Given the description of an element on the screen output the (x, y) to click on. 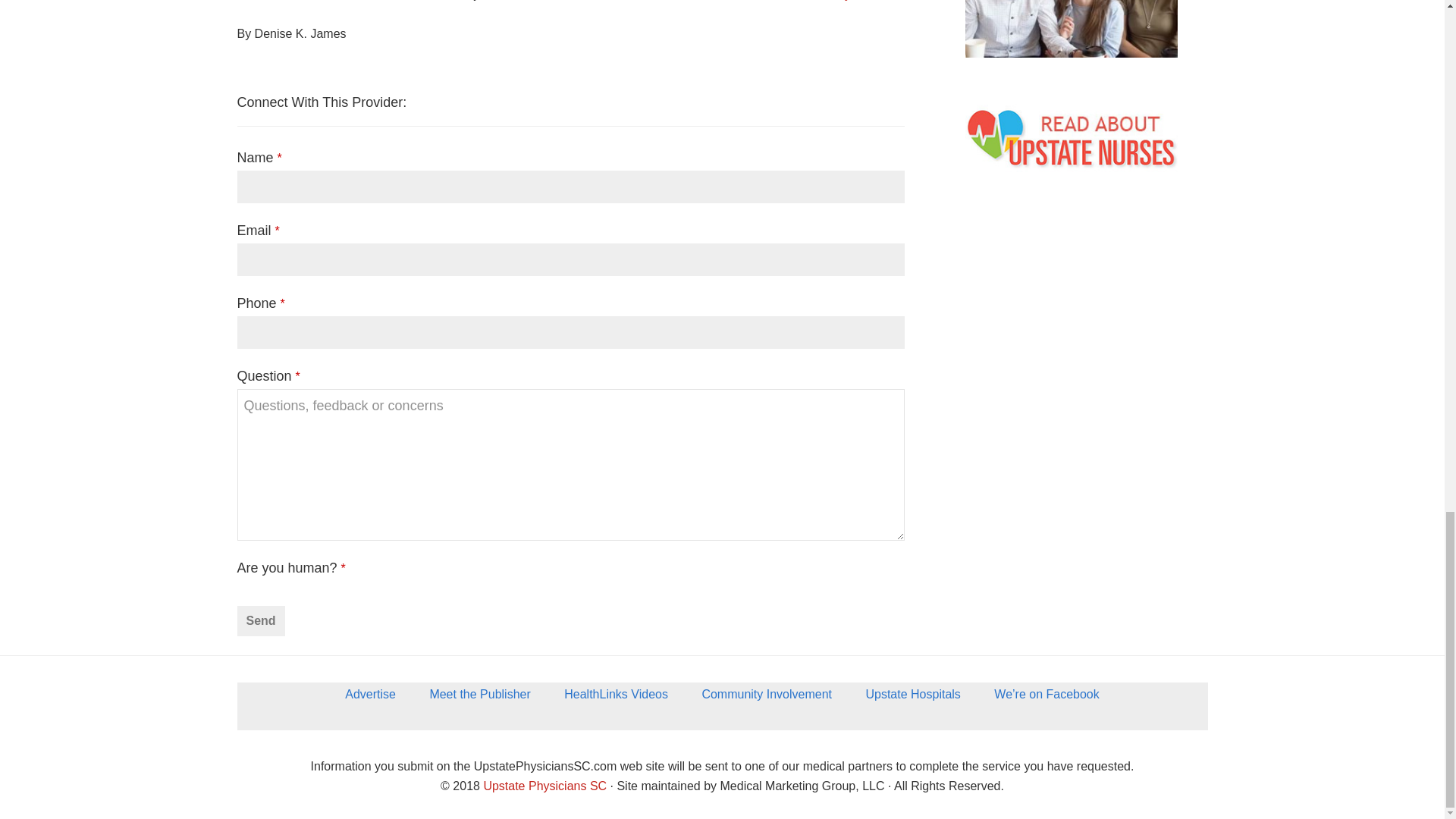
Upstate Hospitals (912, 698)
HealthLinks Videos (615, 698)
Meet the Publisher (478, 698)
Send (259, 621)
Community Involvement (766, 698)
Advertise (370, 698)
Upstate Physicians SC (545, 785)
